Given the description of an element on the screen output the (x, y) to click on. 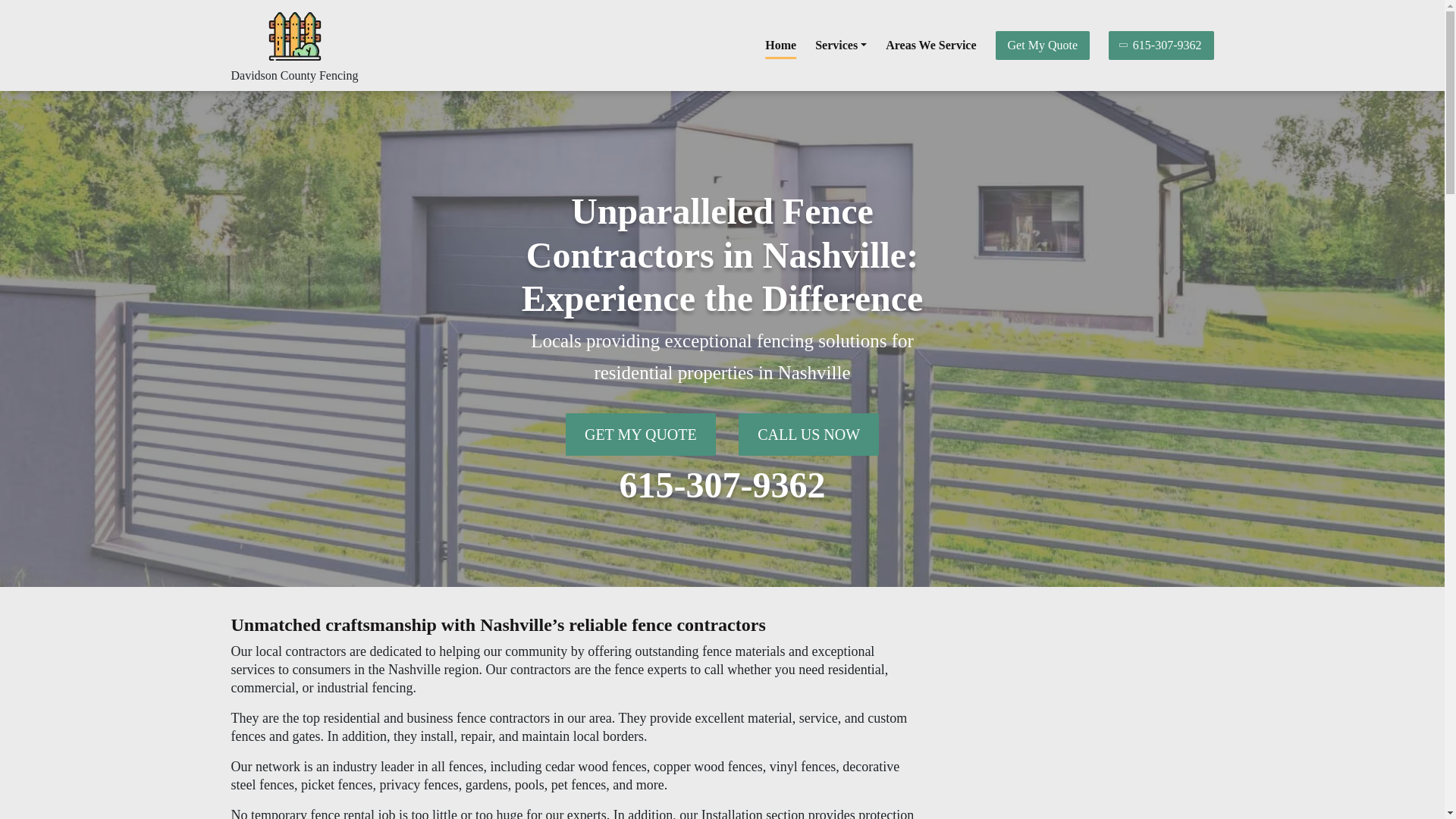
615-307-9362 (722, 485)
Services (840, 45)
CALL US NOW (808, 434)
GET MY QUOTE (641, 434)
Davidson County Fencing (294, 74)
Get My Quote (1042, 45)
Home (780, 45)
Areas We Service (930, 45)
Services (840, 45)
615-307-9362 (1161, 45)
Home (780, 45)
Areas We Service (930, 45)
